Given the description of an element on the screen output the (x, y) to click on. 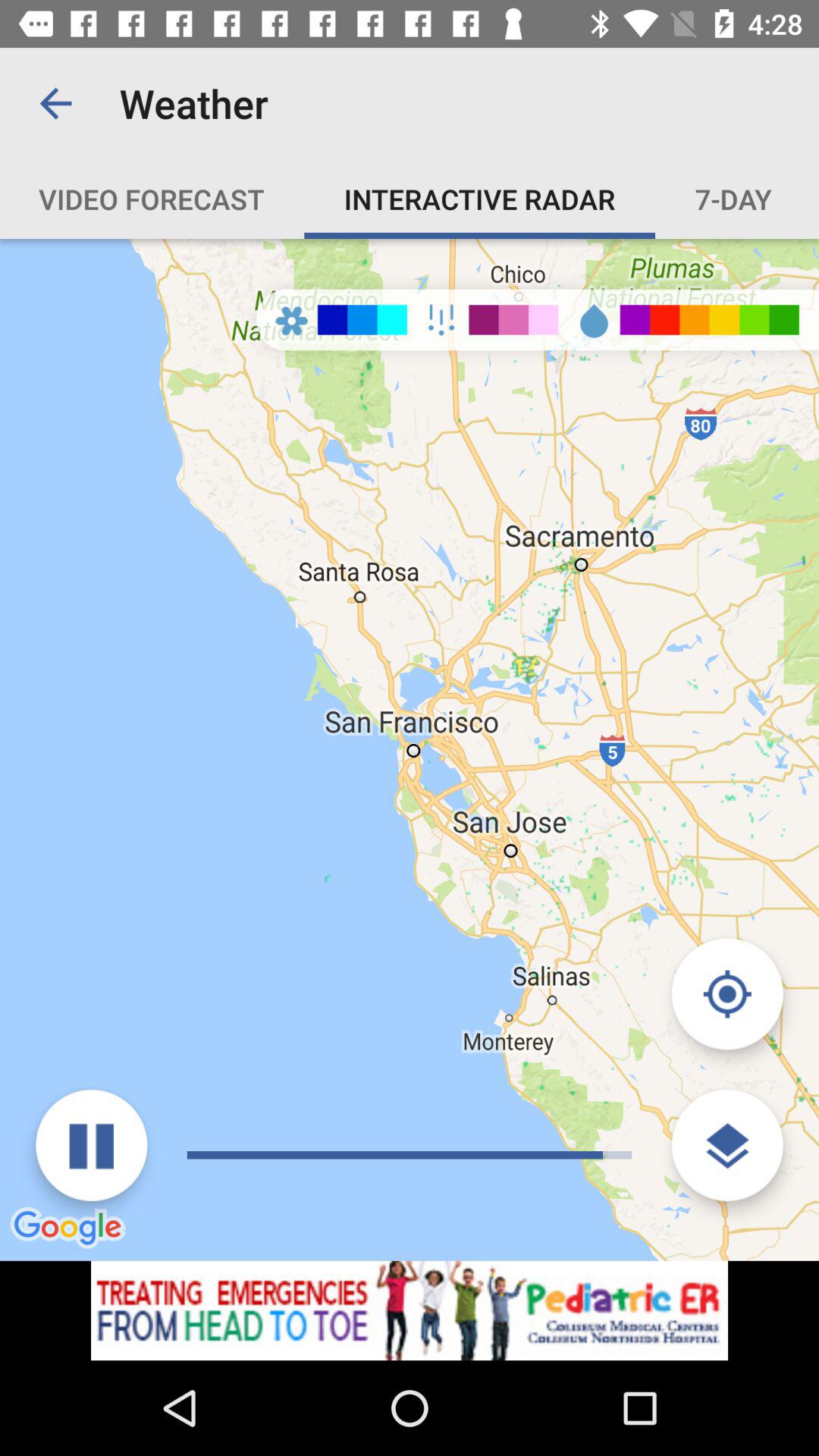
map page (409, 1310)
